Given the description of an element on the screen output the (x, y) to click on. 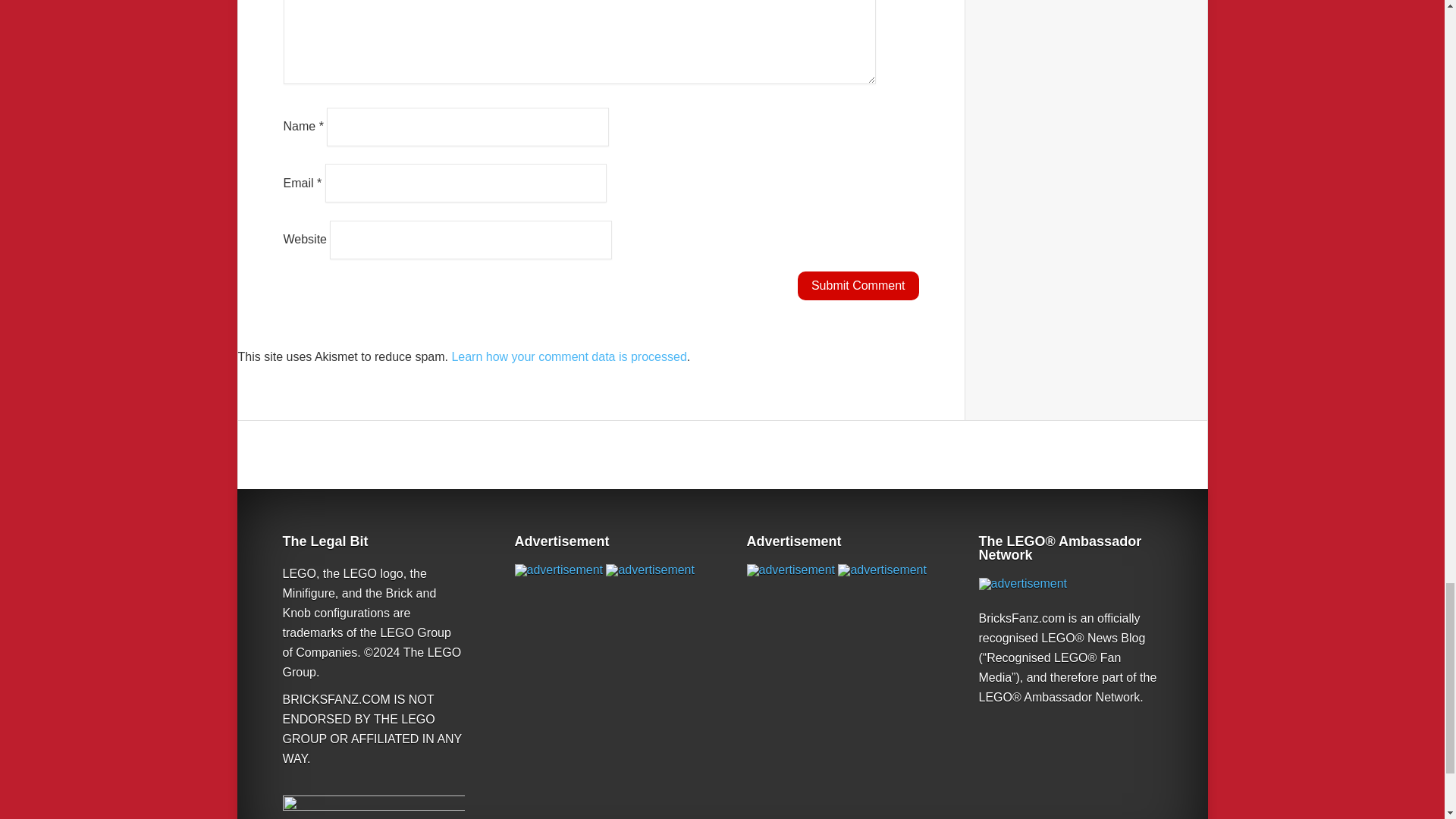
advertisement (557, 570)
Submit Comment (857, 285)
advertisement (649, 570)
advertisement (789, 570)
advertisement (882, 570)
advertisement (1022, 583)
